Given the description of an element on the screen output the (x, y) to click on. 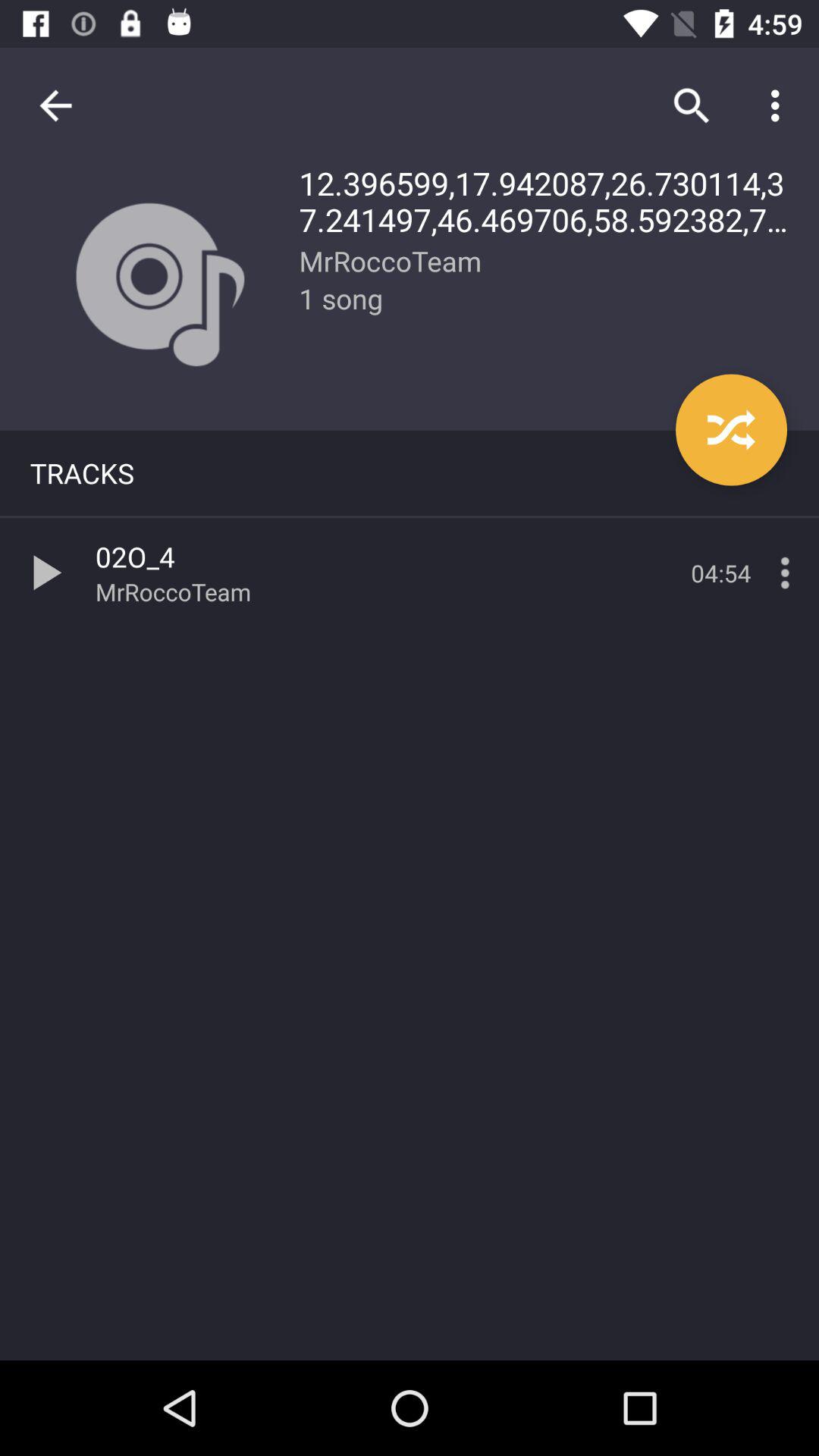
select icon next to the 12 396599 17 (55, 105)
